Given the description of an element on the screen output the (x, y) to click on. 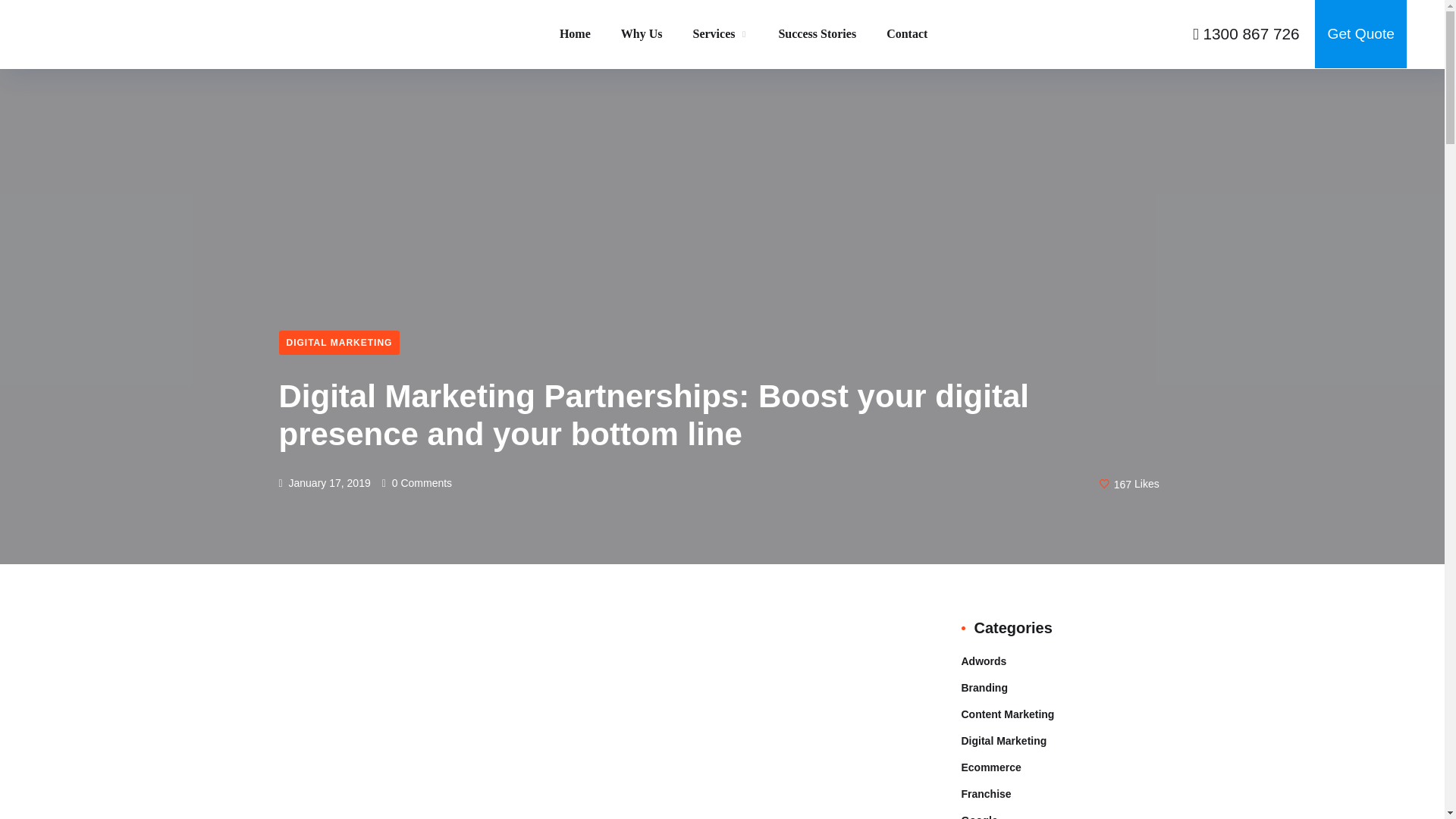
1300 867 726 (1246, 34)
Why Us (641, 49)
Get Quote (1360, 33)
Contact (906, 33)
Success Stories (816, 33)
Like (1129, 483)
January 17, 2019 (325, 482)
0 Comments (416, 482)
Services (720, 44)
DIGITAL MARKETING (339, 342)
